Given the description of an element on the screen output the (x, y) to click on. 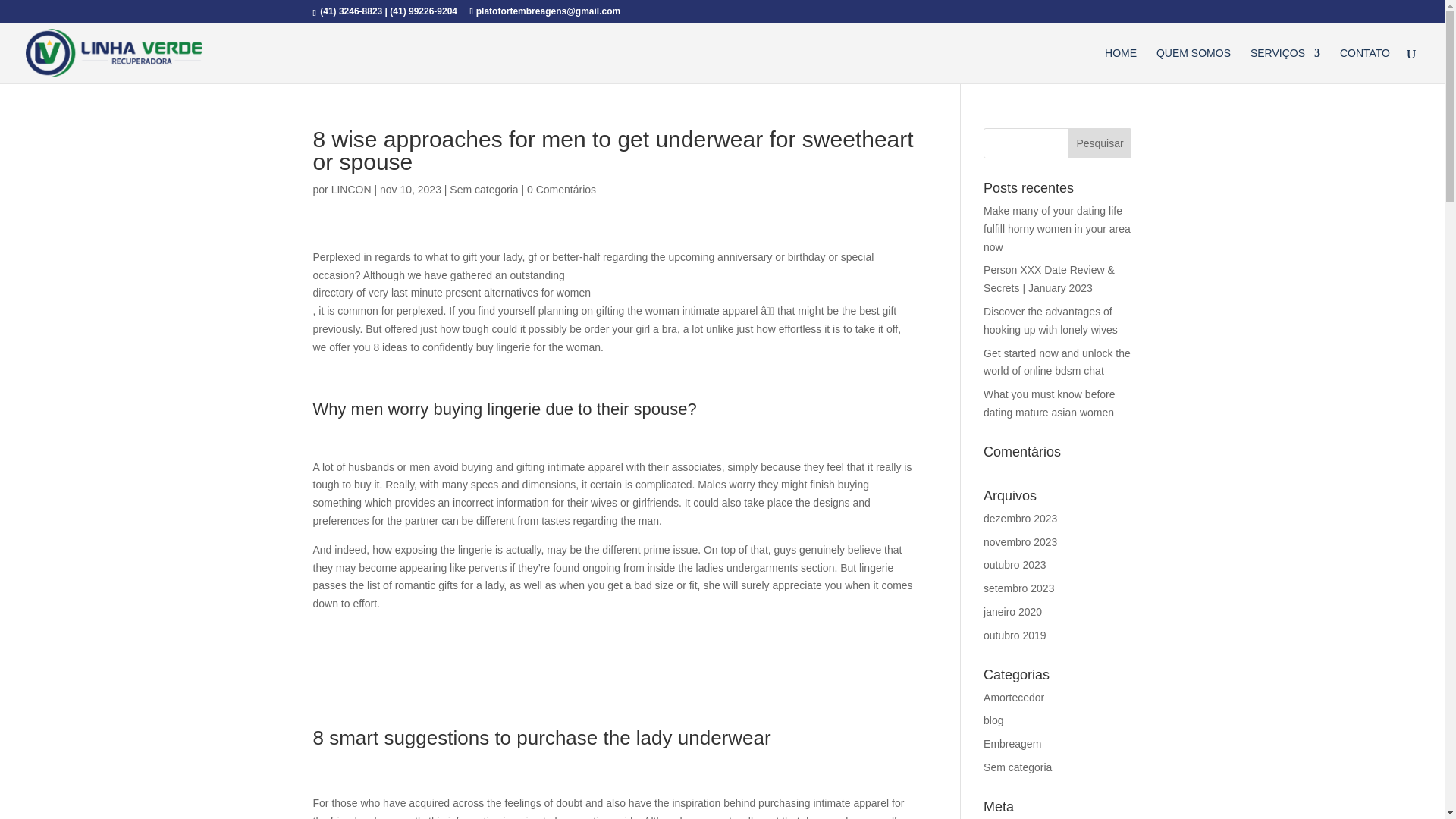
Sem categoria (483, 189)
dezembro 2023 (1020, 518)
blog (993, 720)
Postagem de LINCON (351, 189)
novembro 2023 (1020, 541)
HOME (1121, 65)
Sem categoria (1017, 767)
Amortecedor (1013, 697)
janeiro 2020 (1013, 612)
outubro 2019 (1015, 635)
